Given the description of an element on the screen output the (x, y) to click on. 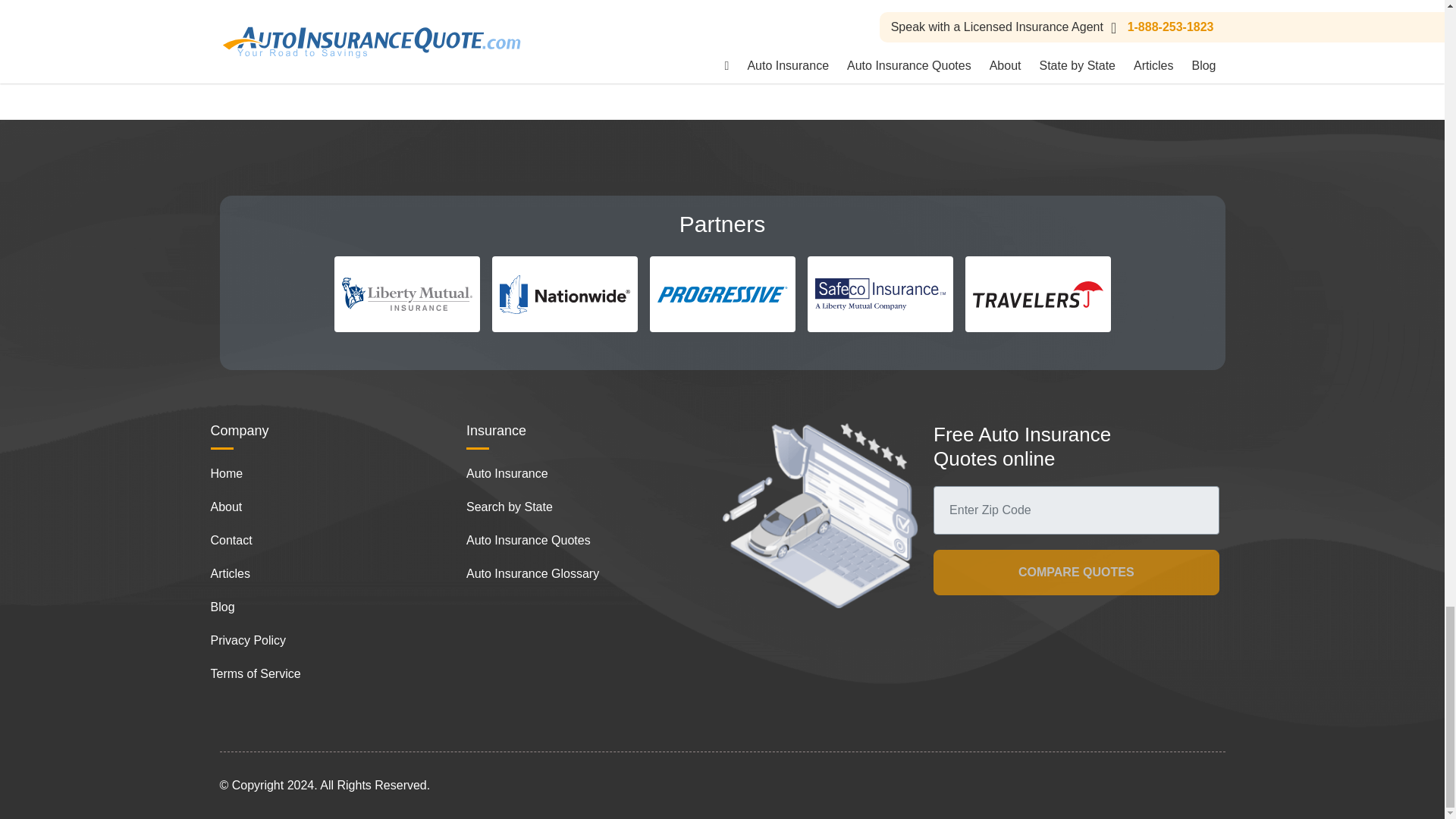
Home (227, 472)
Read More... (956, 12)
Auto Insurance (506, 472)
About (227, 506)
Articles (230, 573)
Read More... (615, 12)
Privacy Policy (248, 640)
Contact (231, 540)
Terms of Service (256, 673)
Blog (222, 606)
Read More... (275, 12)
